Given the description of an element on the screen output the (x, y) to click on. 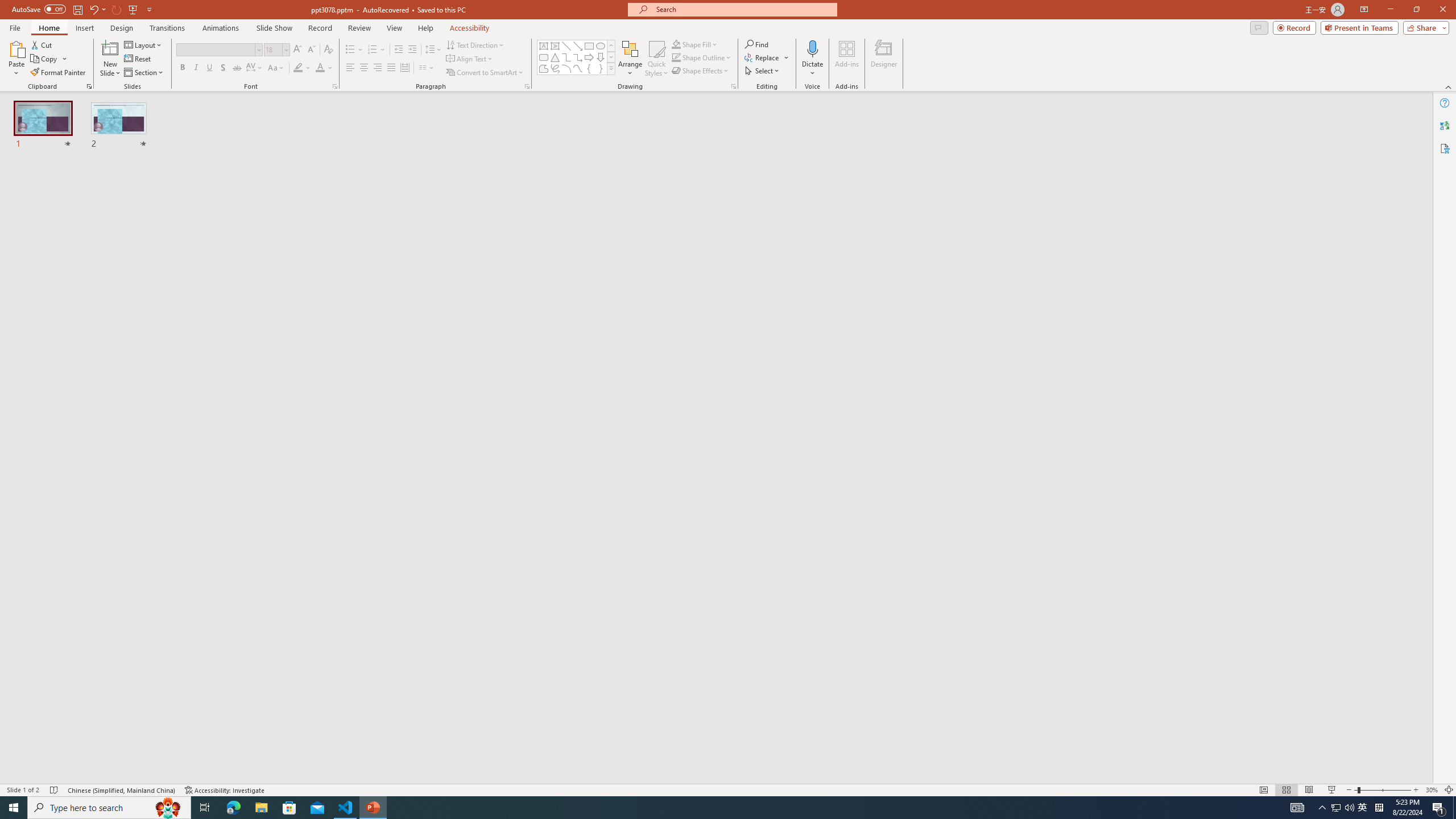
Shape Outline Green, Accent 1 (675, 56)
Format Object... (733, 85)
Font... (334, 85)
Select (762, 69)
Arc (566, 68)
Convert to SmartArt (485, 72)
Change Case (276, 67)
